Given the description of an element on the screen output the (x, y) to click on. 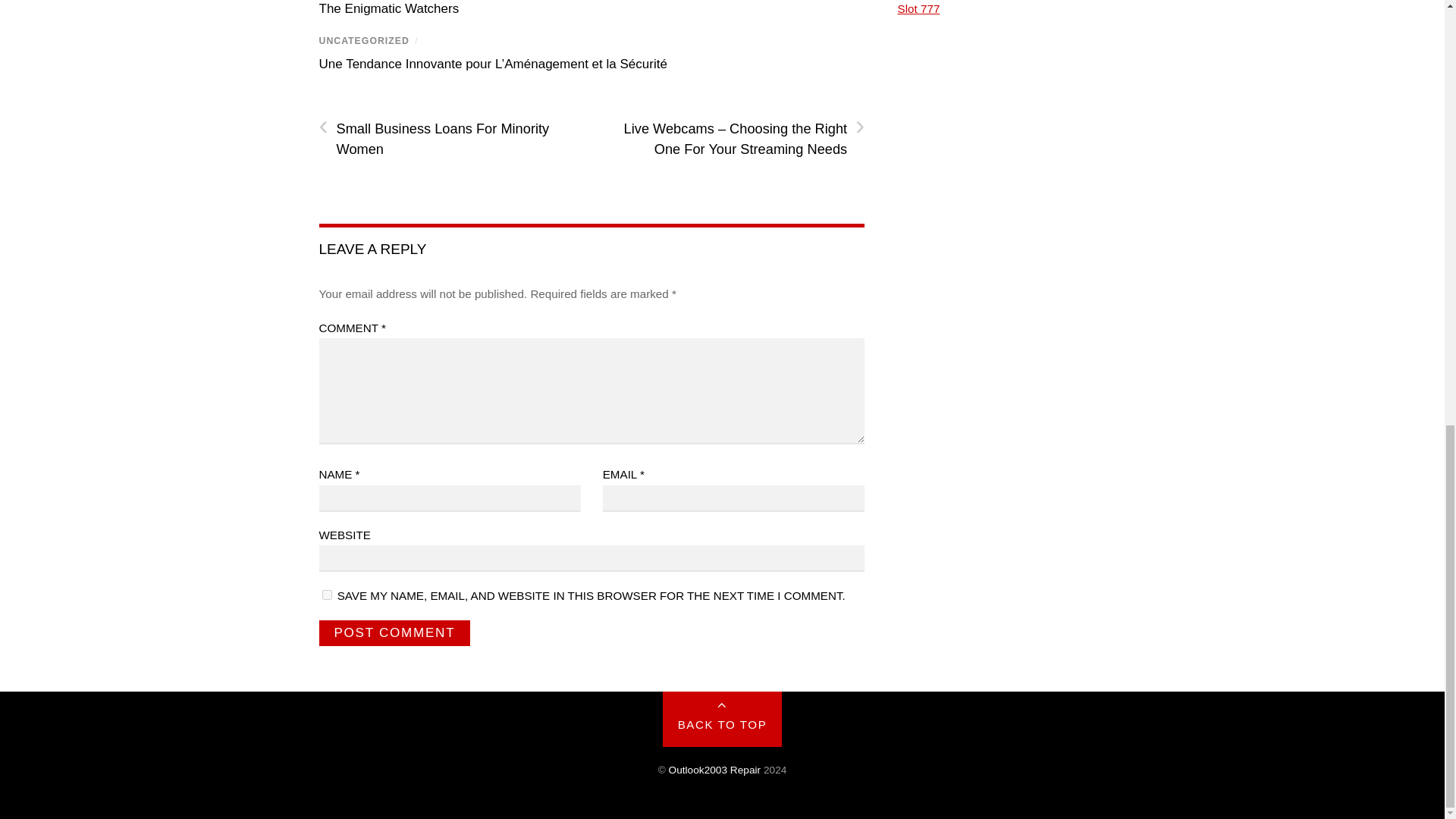
UNCATEGORIZED (363, 40)
Post Comment (394, 632)
Outlook2003 Repair (714, 769)
The Enigmatic Watchers (388, 8)
The Enigmatic Watchers (388, 8)
Post Comment (394, 632)
BACK TO TOP (722, 718)
yes (326, 594)
Slot 777 (919, 8)
